Given the description of an element on the screen output the (x, y) to click on. 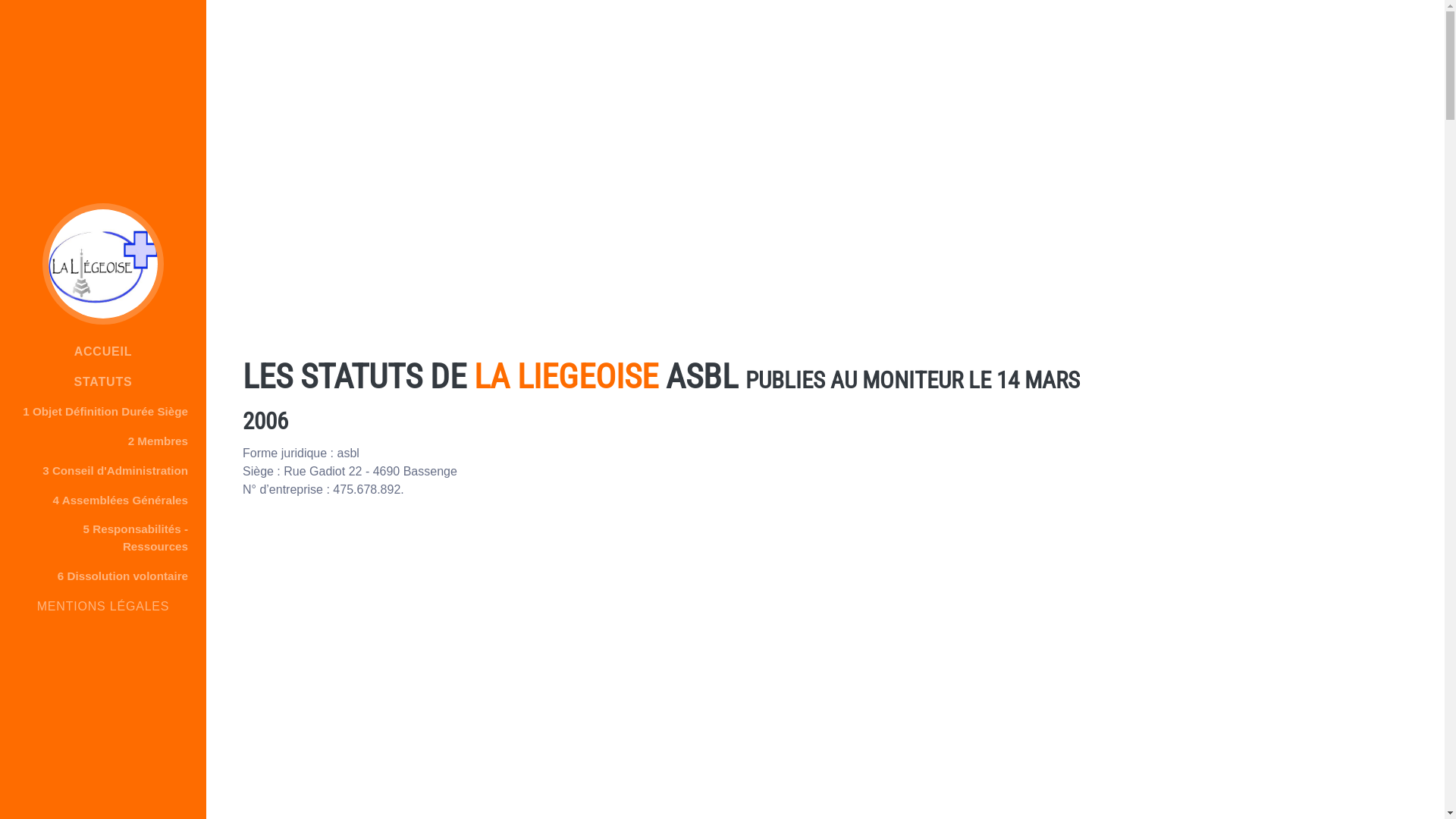
3 Conseil d'Administration Element type: text (103, 471)
ACCUEIL Element type: text (103, 351)
2 Membres Element type: text (103, 441)
STATUTS Element type: text (103, 382)
6 Dissolution volontaire Element type: text (103, 576)
